Given the description of an element on the screen output the (x, y) to click on. 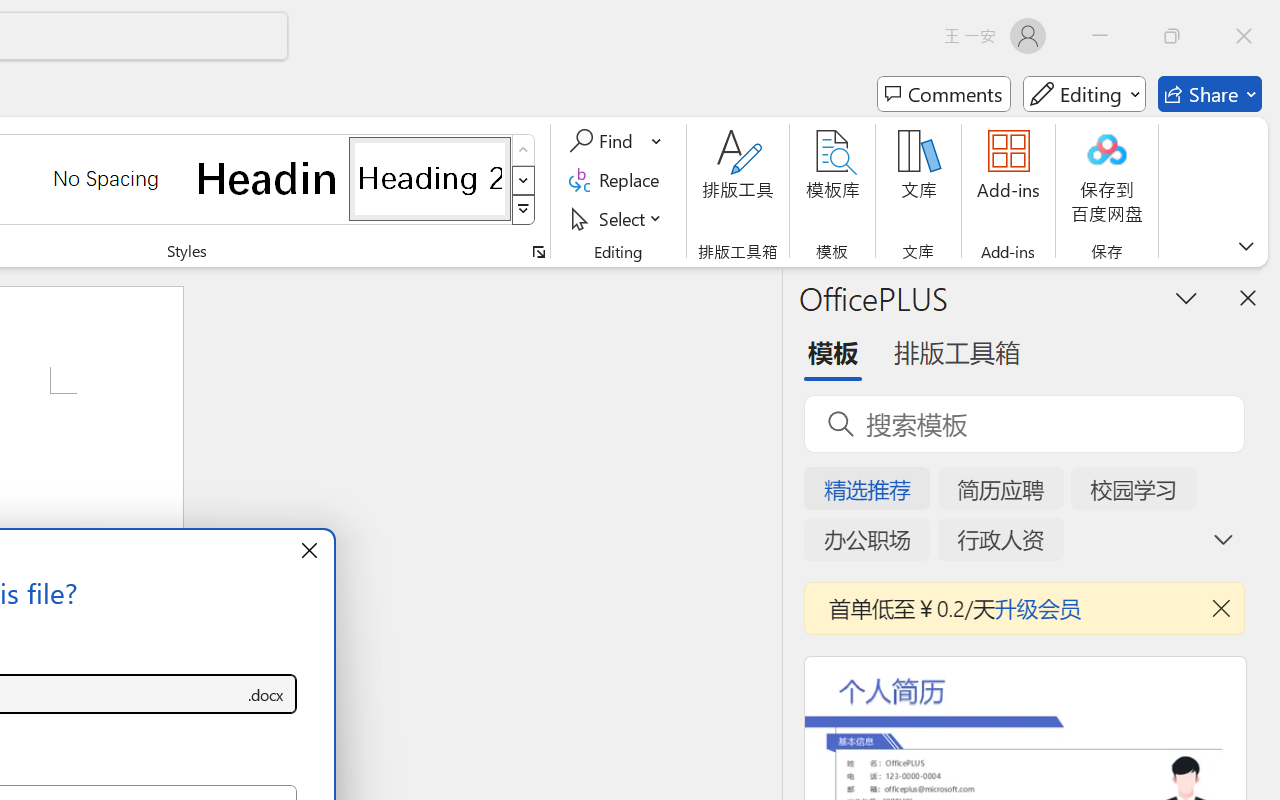
Mode (1083, 94)
Replace... (617, 179)
Comments (943, 94)
Share (1210, 94)
Find (604, 141)
More Options (657, 141)
Row up (523, 150)
